Given the description of an element on the screen output the (x, y) to click on. 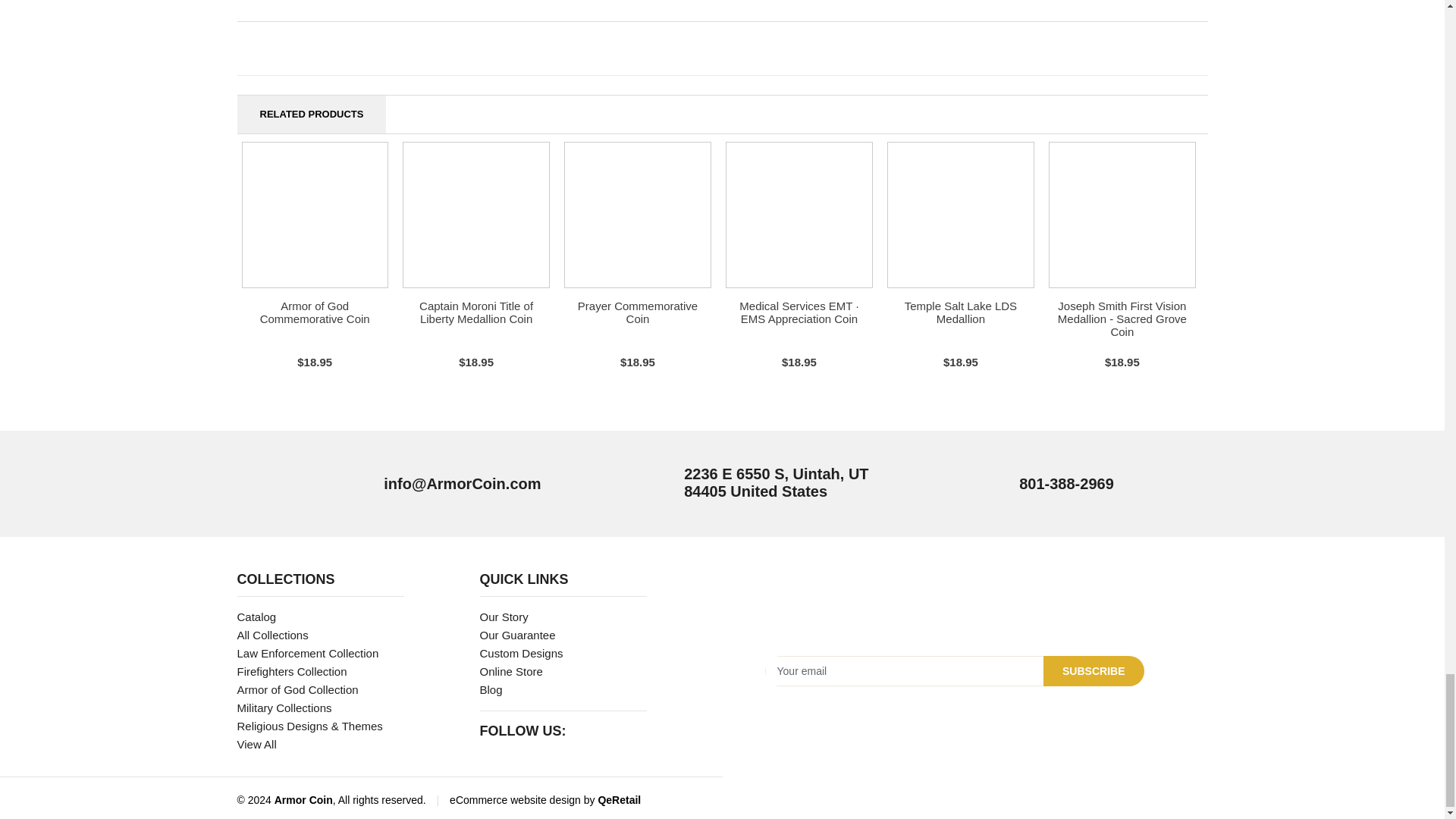
subscribe (1092, 671)
TOP PICK (637, 214)
Captain Moroni Title of Liberty Medallion Coin (475, 312)
Prayer Commemorative Coin (637, 312)
Armor of God Commemorative Coin (314, 312)
TOP PICK (315, 214)
